Given the description of an element on the screen output the (x, y) to click on. 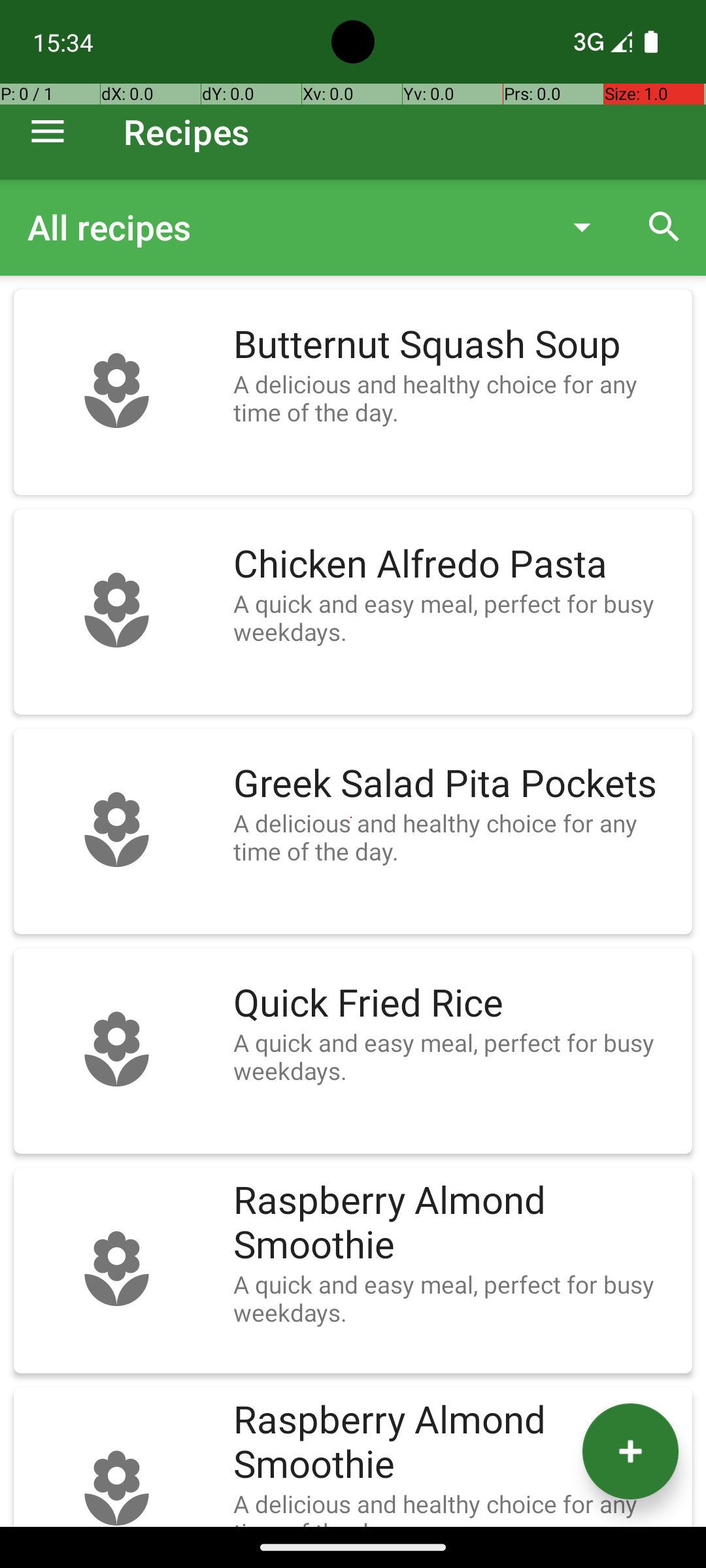
Greek Salad Pita Pockets Element type: android.widget.TextView (455, 783)
Quick Fried Rice Element type: android.widget.TextView (455, 1003)
Raspberry Almond Smoothie Element type: android.widget.TextView (455, 1222)
